Given the description of an element on the screen output the (x, y) to click on. 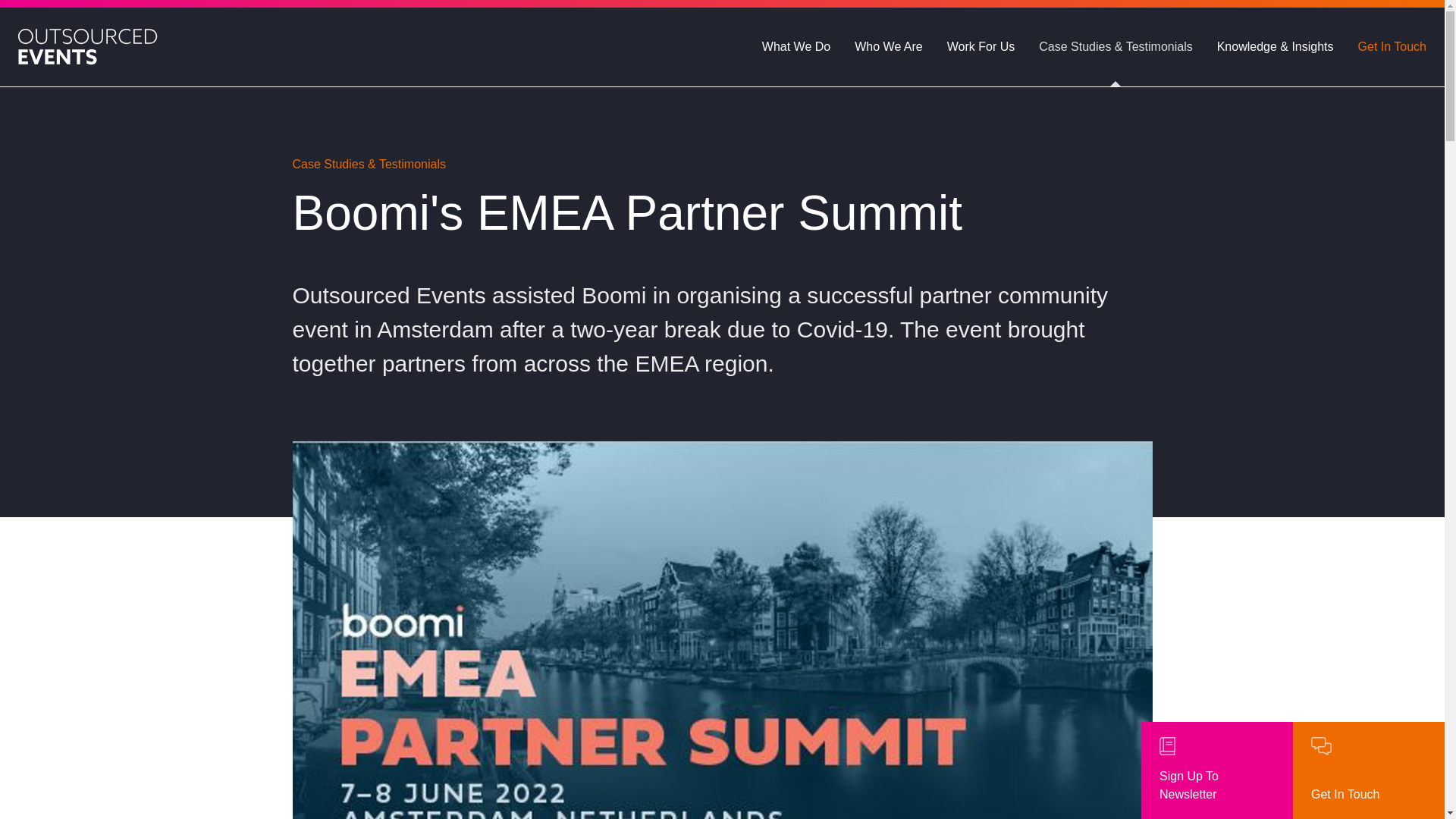
Twitter (989, 361)
Cookie Policy (329, 766)
LinkedIn (1081, 361)
Sign Up To Newsletter (1216, 770)
Work For Us (360, 462)
What We Do (360, 364)
Ethics Policy (326, 675)
Get In Touch (360, 610)
Privacy Policy (439, 766)
YouTube (1129, 360)
Who We Are (360, 413)
Instagram (1036, 361)
